Given the description of an element on the screen output the (x, y) to click on. 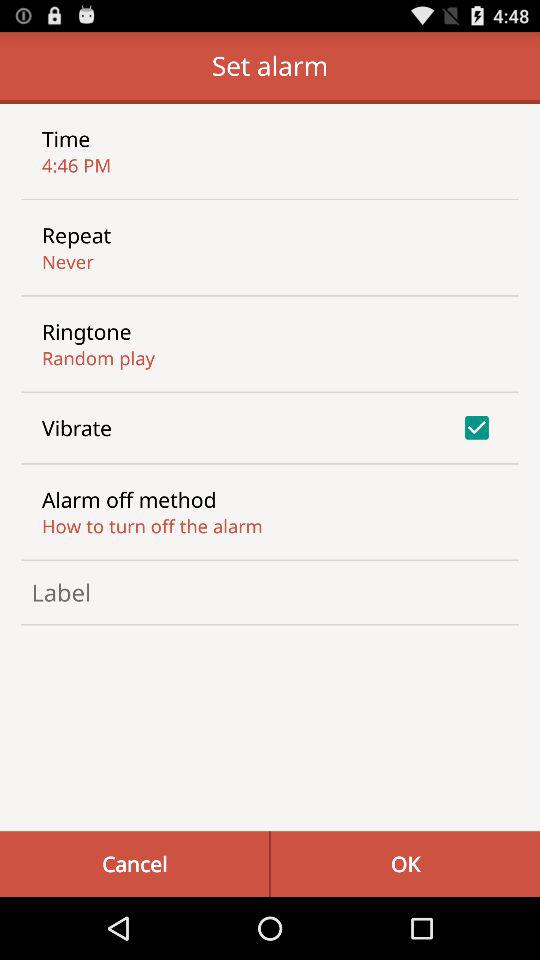
add label (270, 592)
